Given the description of an element on the screen output the (x, y) to click on. 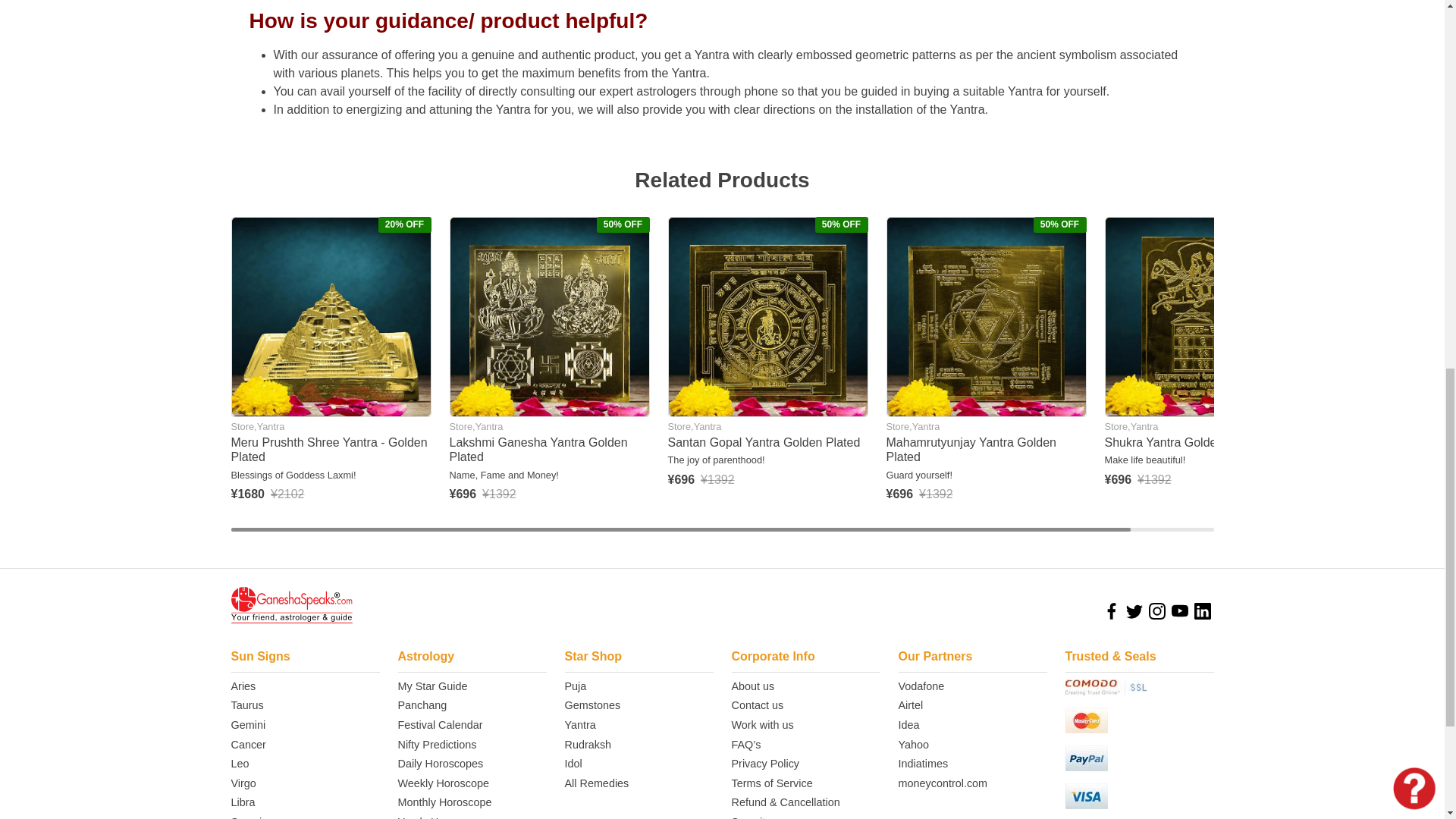
Santan Gopal Yantra Golden Plated (767, 316)
Lakshmi Ganesha Yantra Golden Plated (549, 316)
Meru Prushth Shree Yantra - Golden Plated (330, 316)
